Given the description of an element on the screen output the (x, y) to click on. 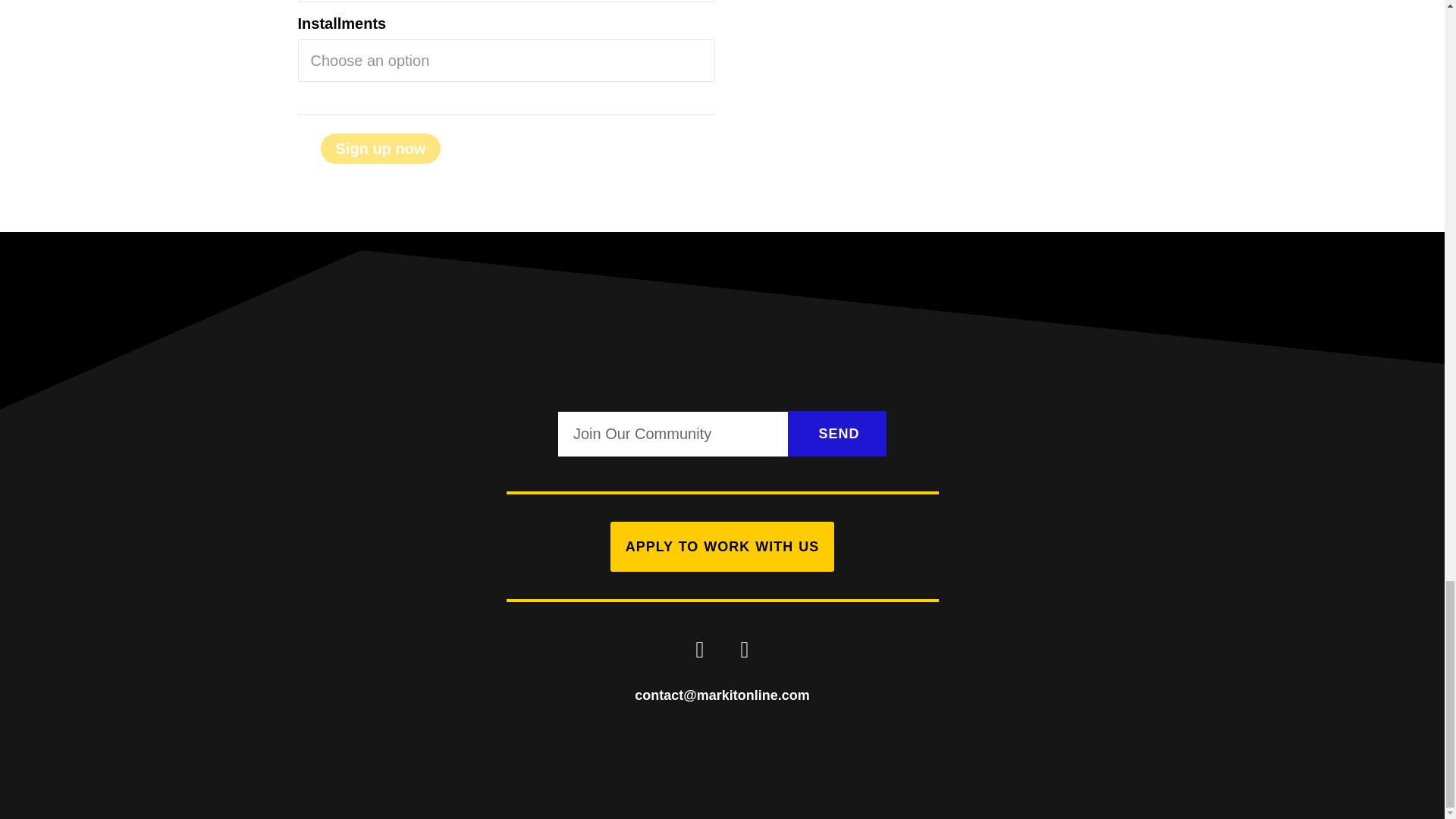
Sign up now (380, 148)
SEND (836, 433)
APPLY TO WORK WITH US (722, 546)
